Given the description of an element on the screen output the (x, y) to click on. 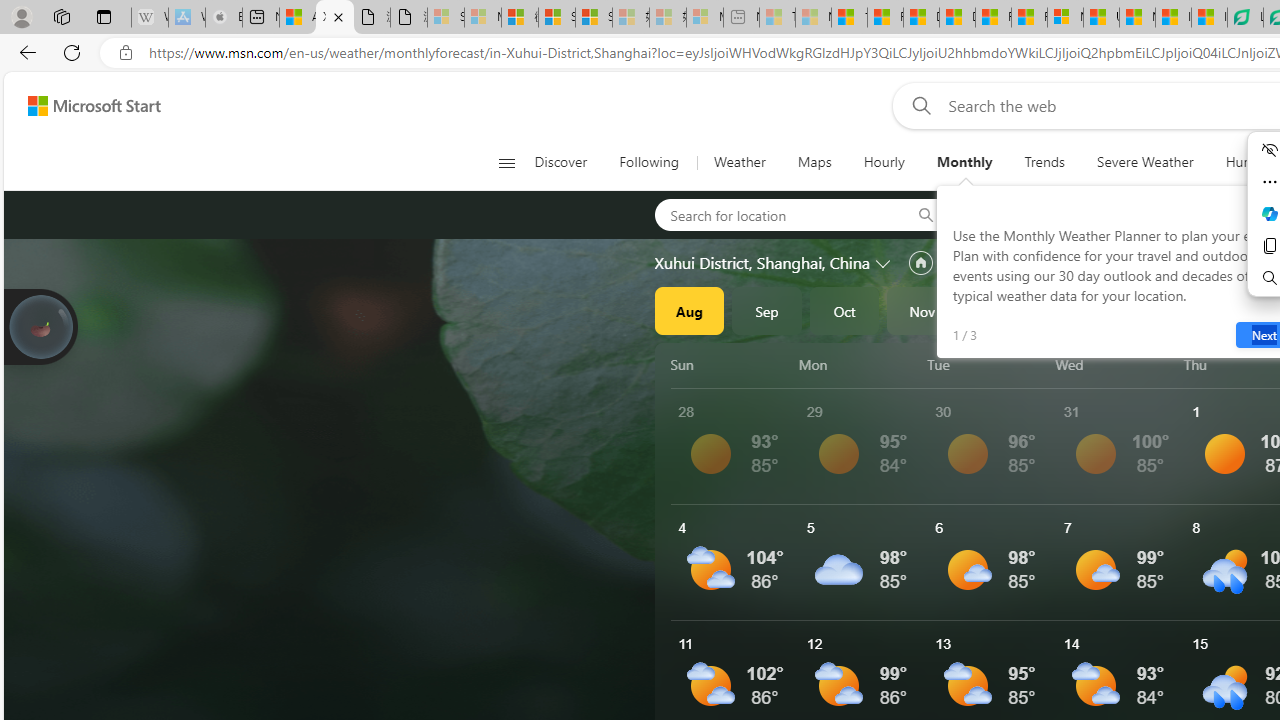
Nov (922, 310)
Wed (1115, 363)
Remove location (1149, 214)
Class: button-glyph (505, 162)
Mon (859, 363)
Severe Weather (1145, 162)
Hourly (884, 162)
Top Stories - MSN - Sleeping (777, 17)
LendingTree - Compare Lenders (1245, 17)
